Given the description of an element on the screen output the (x, y) to click on. 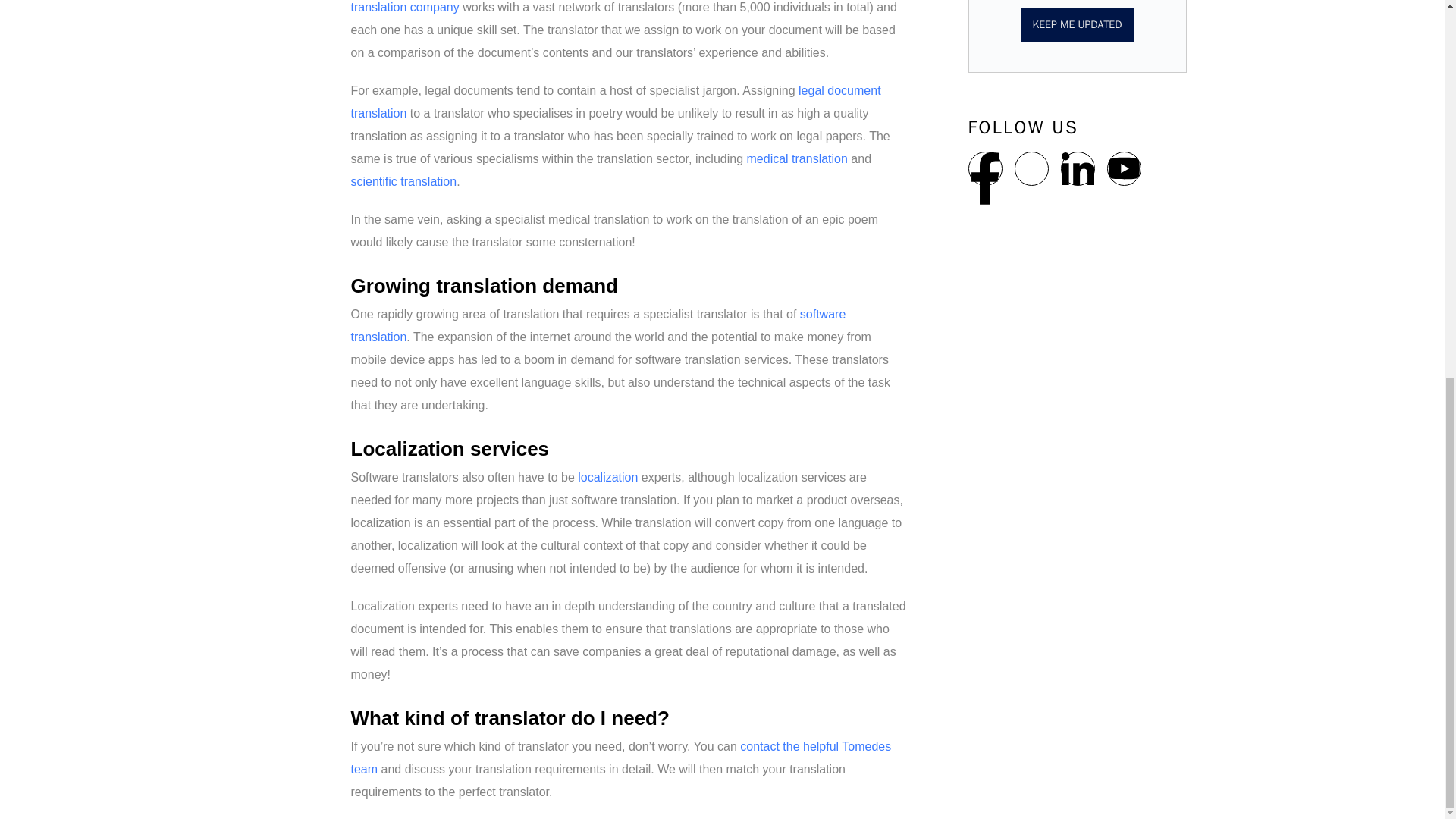
Our translation company (604, 6)
software translation (597, 325)
legal document translation (615, 101)
contact the helpful Tomedes team (620, 757)
KEEP ME UPDATED (1077, 24)
scientific translation (403, 181)
localization (607, 477)
medical translation (796, 158)
